Given the description of an element on the screen output the (x, y) to click on. 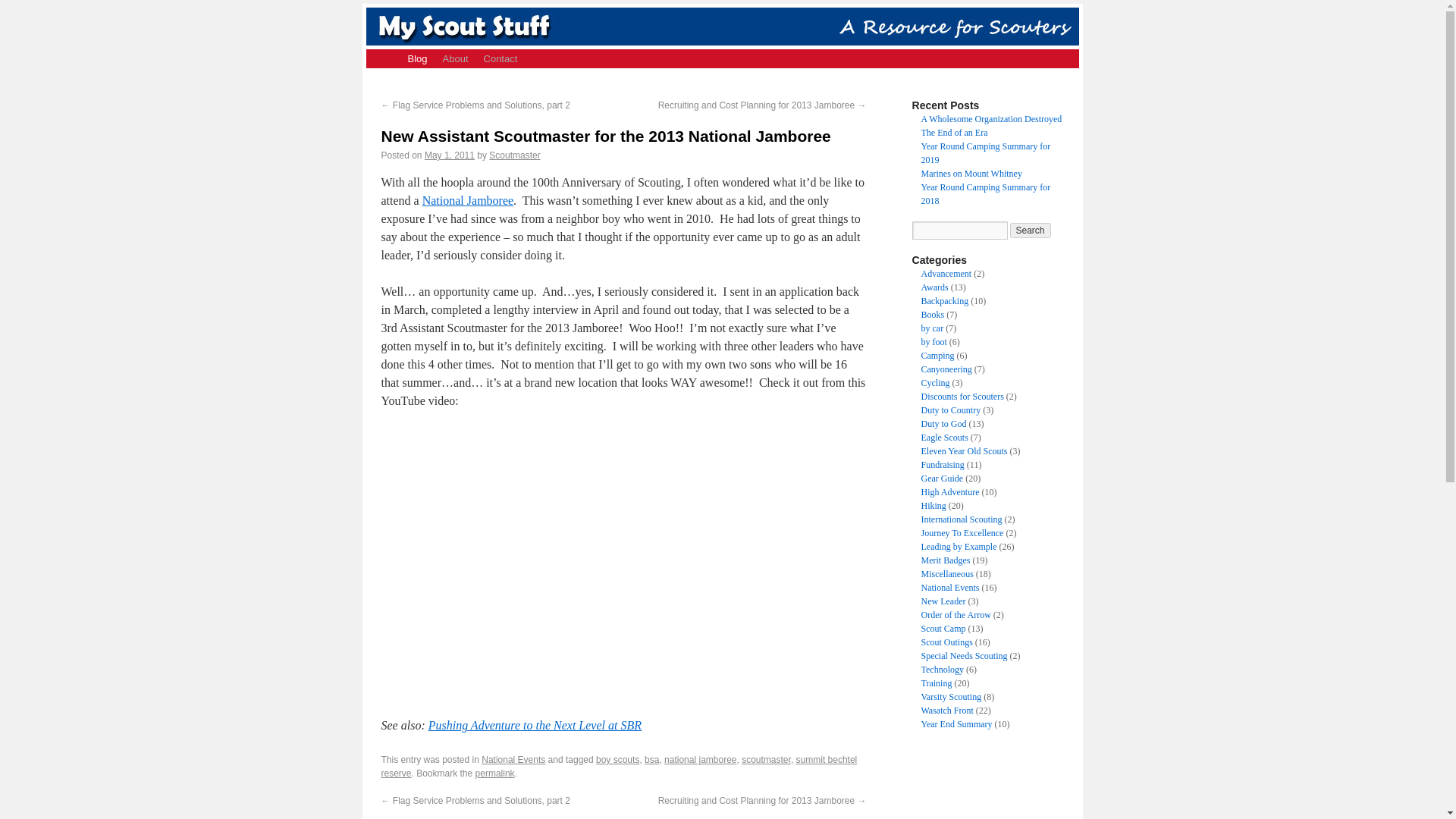
by foot (933, 341)
Search (1030, 230)
Scoutmaster (514, 154)
Marines on Mount Whitney (971, 173)
A Wholesome Organization Destroyed (990, 118)
About (455, 58)
Search (1030, 230)
Duty to Country (949, 409)
The End of an Era (953, 132)
Blog (417, 58)
